Given the description of an element on the screen output the (x, y) to click on. 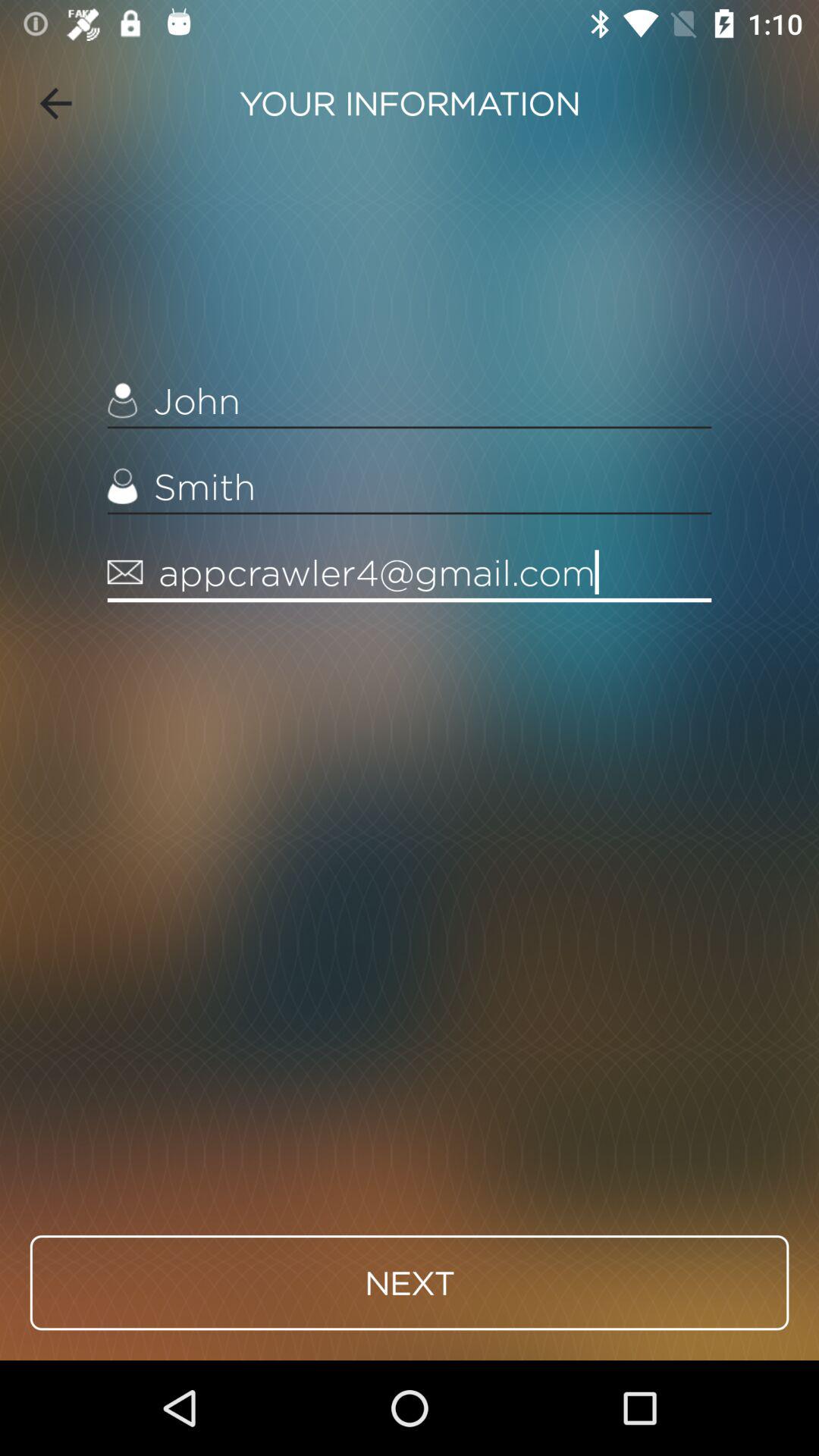
tap the item above next item (409, 572)
